Given the description of an element on the screen output the (x, y) to click on. 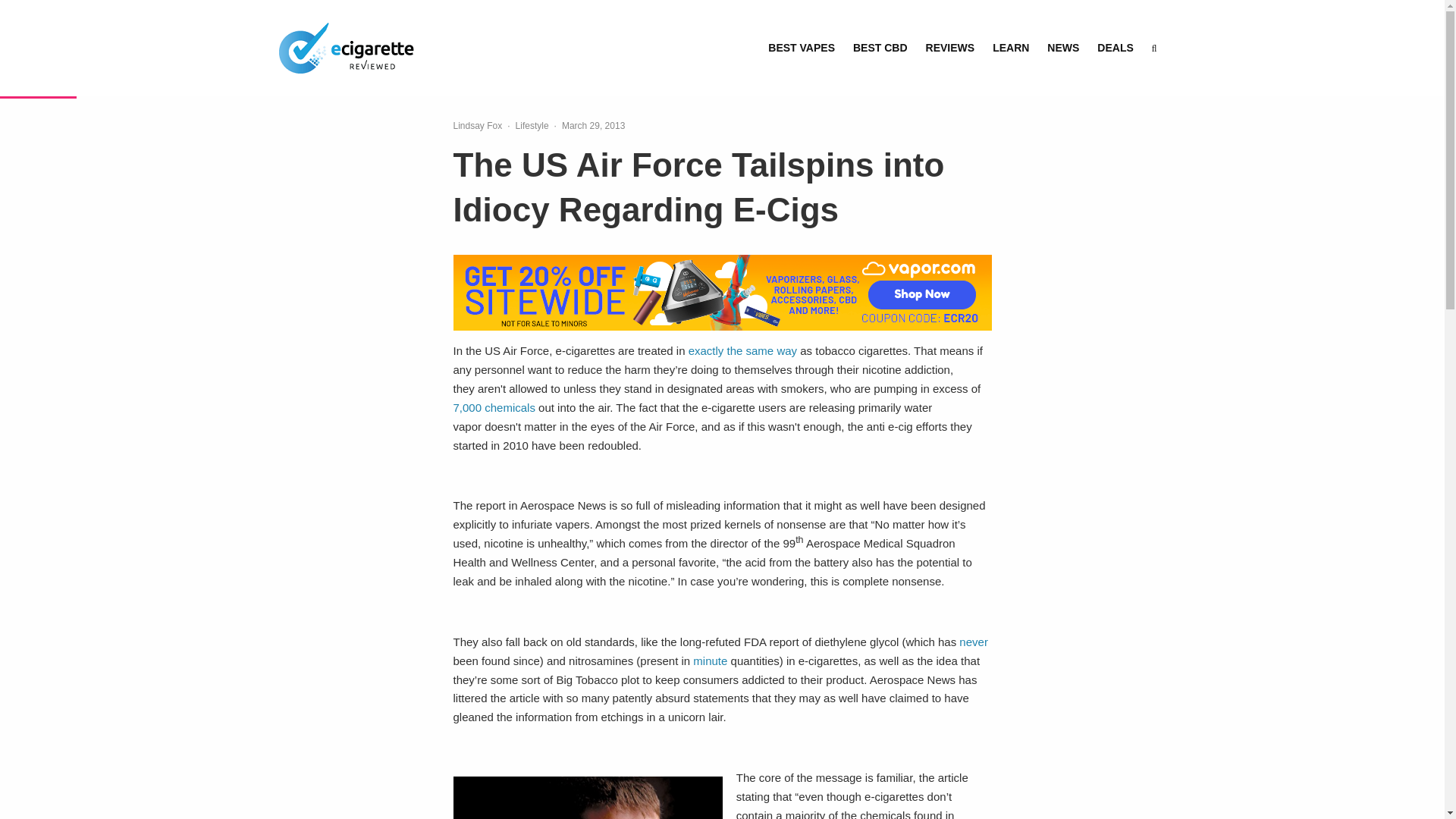
minute (709, 660)
never (973, 641)
Lindsay Fox (477, 125)
Lifestyle (531, 126)
7,000 chemicals (493, 407)
exactly the same way (742, 350)
